Given the description of an element on the screen output the (x, y) to click on. 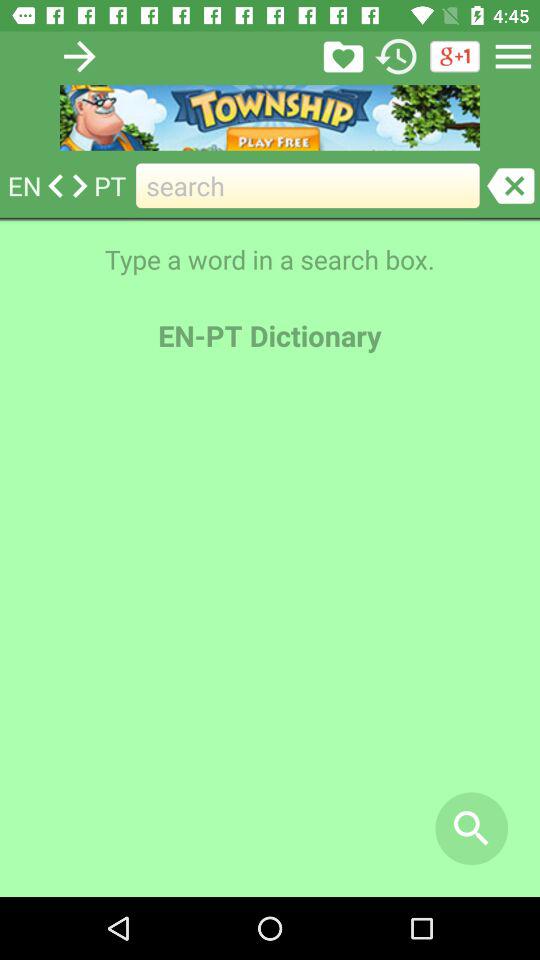
go to advertisement (270, 117)
